Given the description of an element on the screen output the (x, y) to click on. 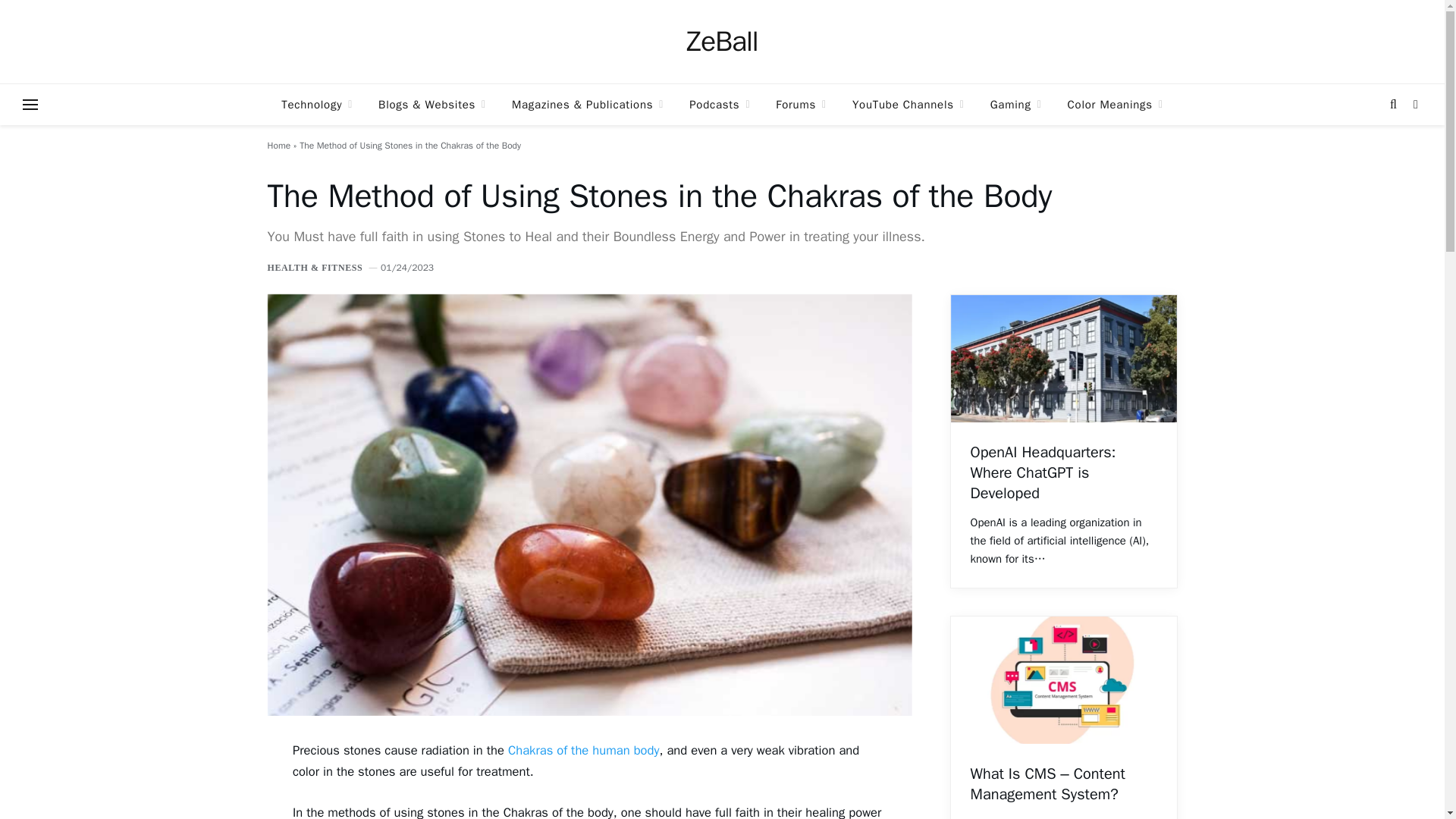
ZeBall (721, 41)
Technology (316, 104)
ZeBall (721, 41)
